Given the description of an element on the screen output the (x, y) to click on. 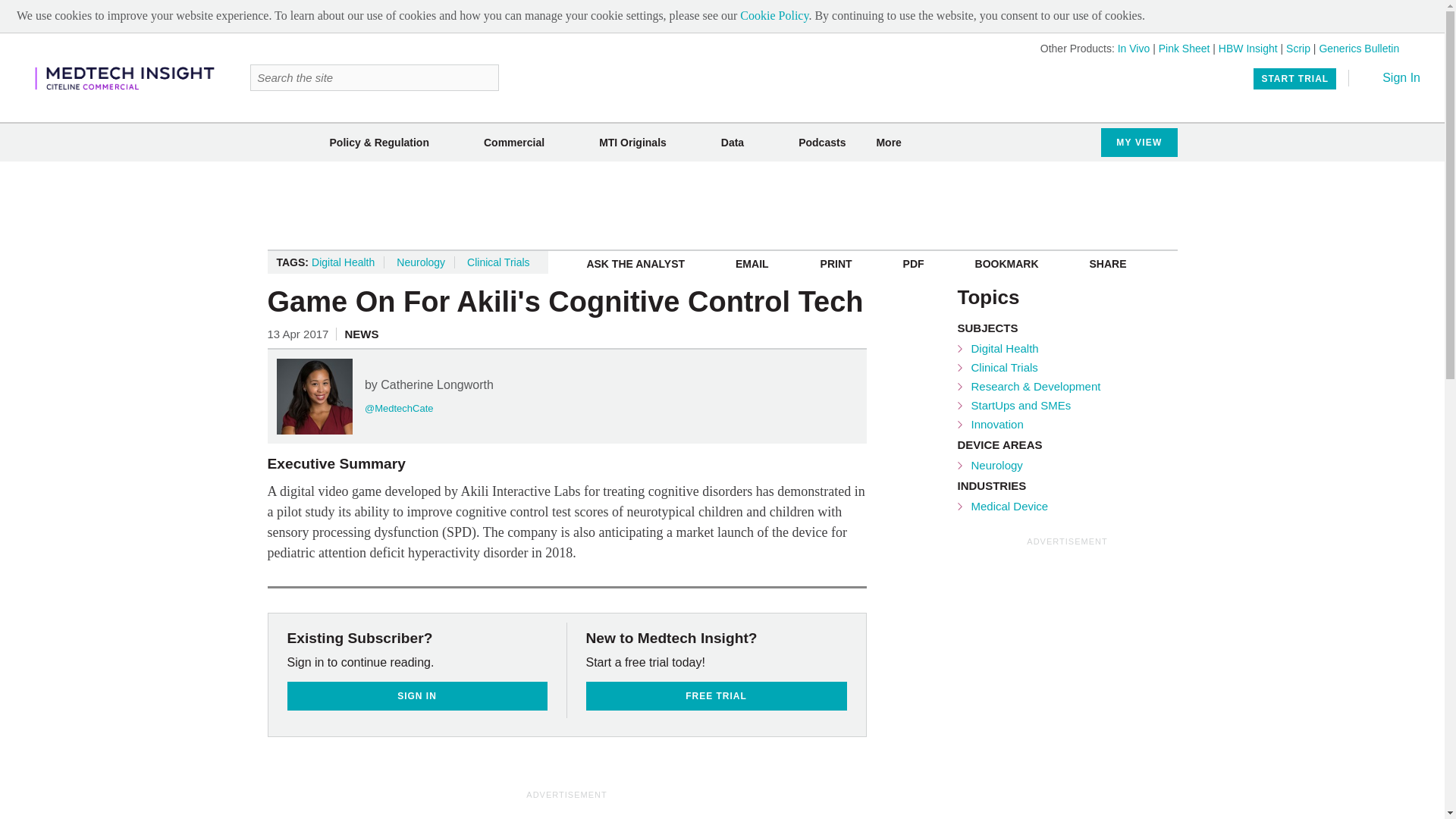
Sign In (1391, 77)
Commercial (513, 142)
Cookie Policy (773, 15)
In Vivo (1134, 48)
START TRIAL (1294, 78)
Pink Sheet (1183, 48)
3rd party ad content (567, 810)
HBW Insight (1248, 48)
Scrip (1297, 48)
Generics Bulletin (1359, 48)
3rd party ad content (721, 205)
